Given the description of an element on the screen output the (x, y) to click on. 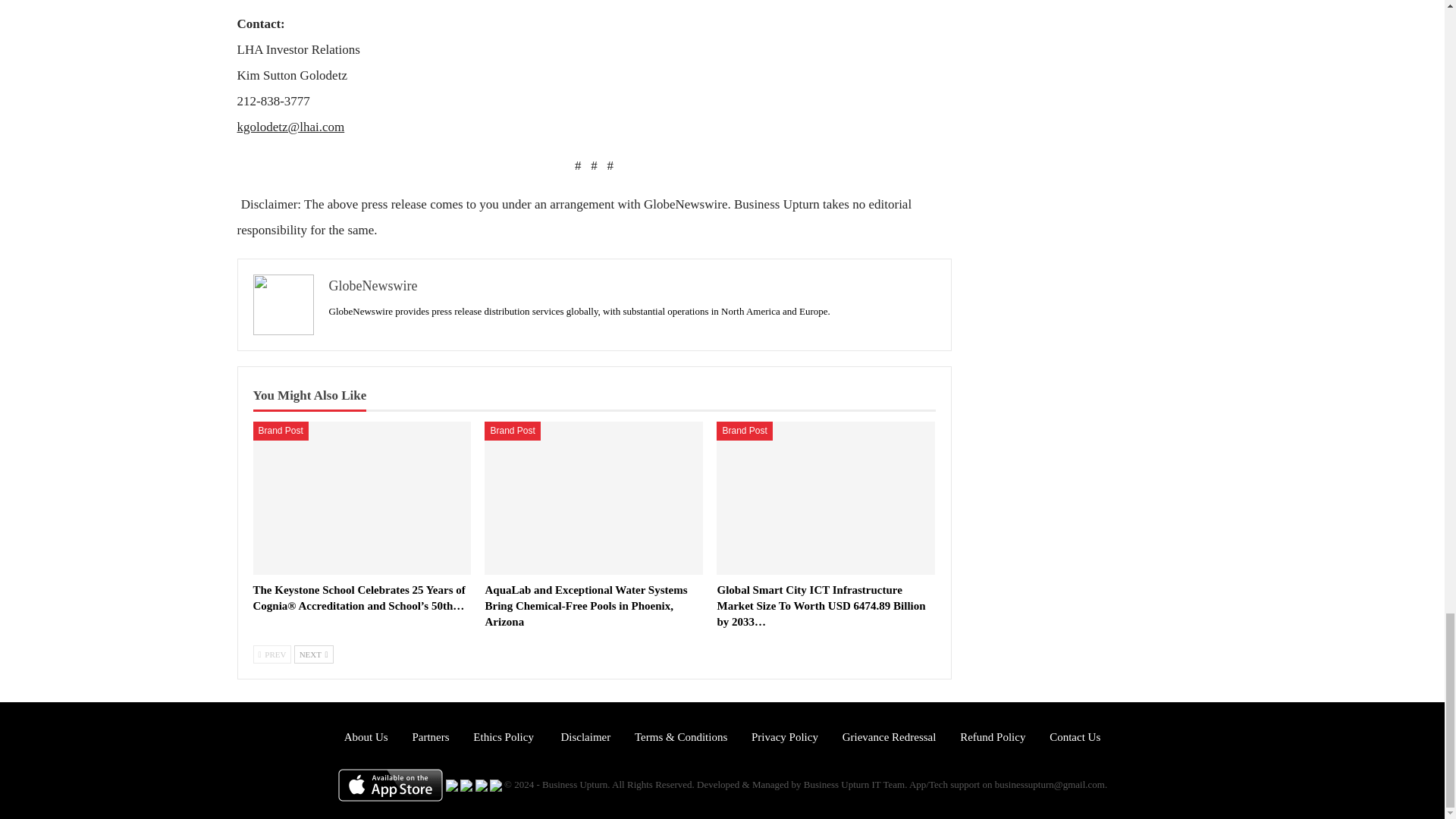
Previous (272, 654)
Next (313, 654)
